Given the description of an element on the screen output the (x, y) to click on. 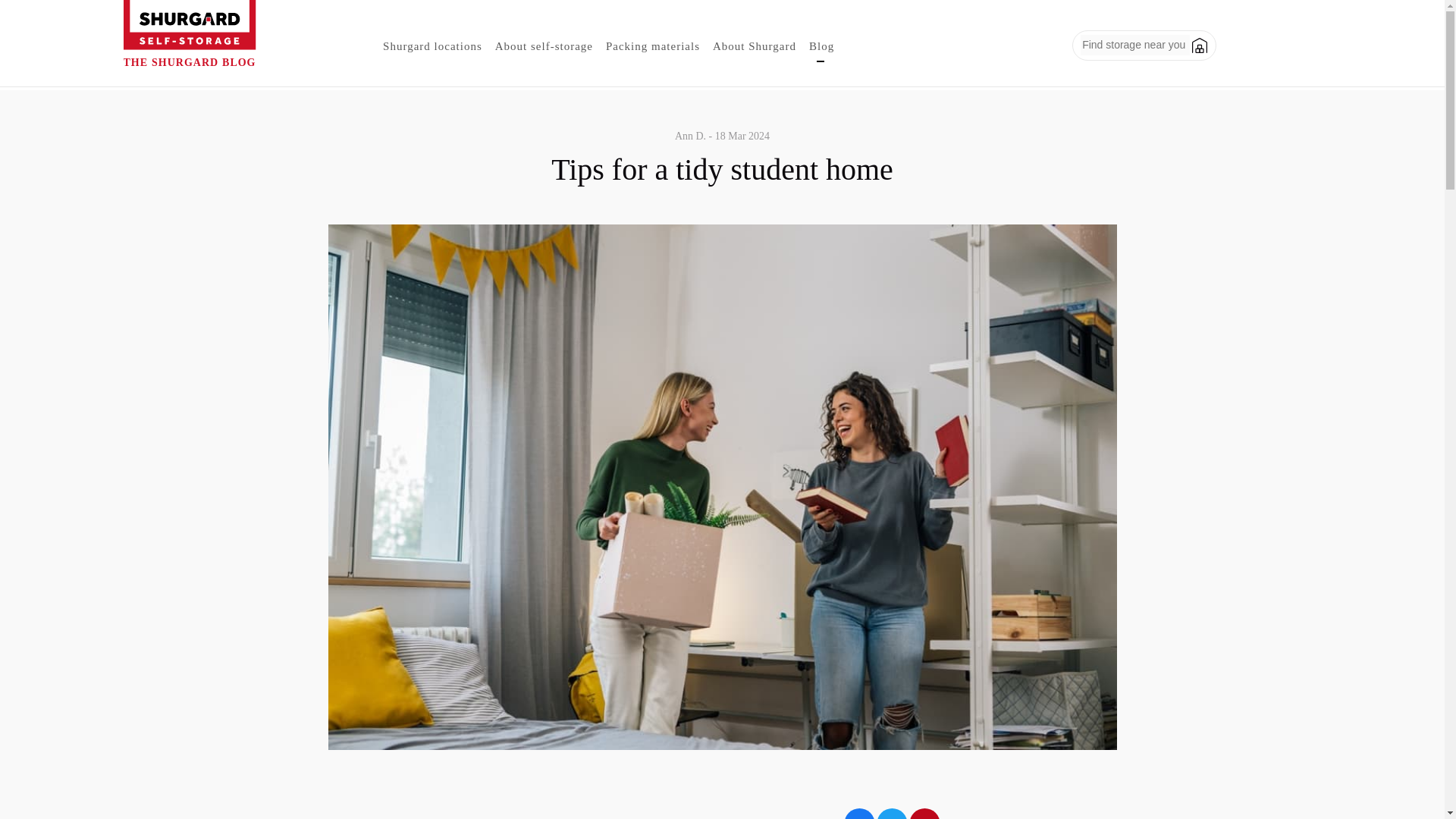
Packing materials (652, 46)
THE SHURGARD BLOG (189, 45)
About Shurgard (753, 46)
The Shurgard Blog (189, 45)
About self-storage (543, 46)
Blog (821, 46)
Shurgard locations (432, 46)
